Given the description of an element on the screen output the (x, y) to click on. 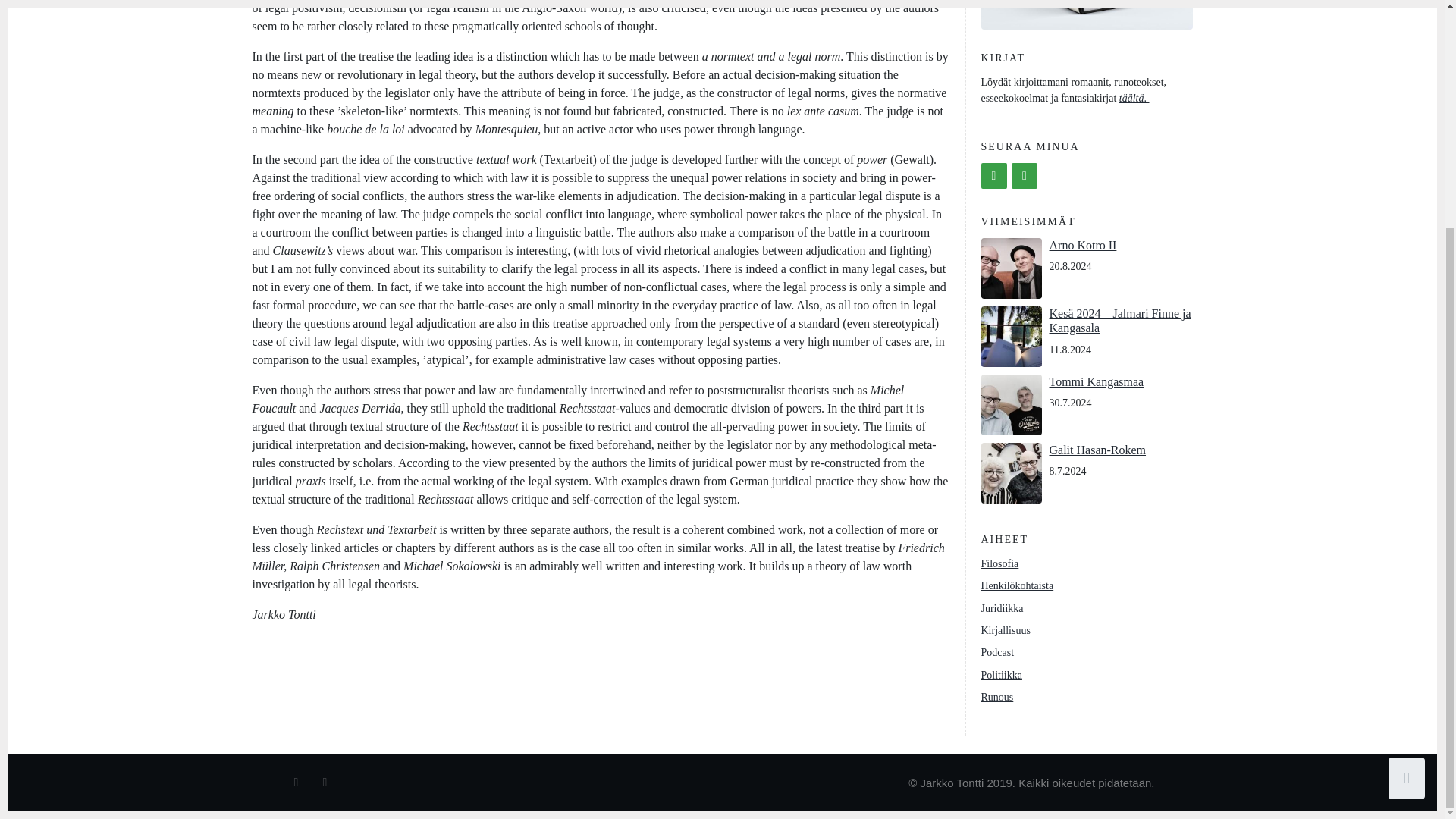
Filosofia (1000, 563)
Tommi Kangasmaa (1096, 381)
Arno Kotro II (1082, 245)
Arno Kotro II (1082, 245)
Juridiikka (1002, 608)
Galit Hasan-Rokem (1098, 449)
Galit Hasan-Rokem (1098, 449)
Tommi Kangasmaa (1096, 381)
